Given the description of an element on the screen output the (x, y) to click on. 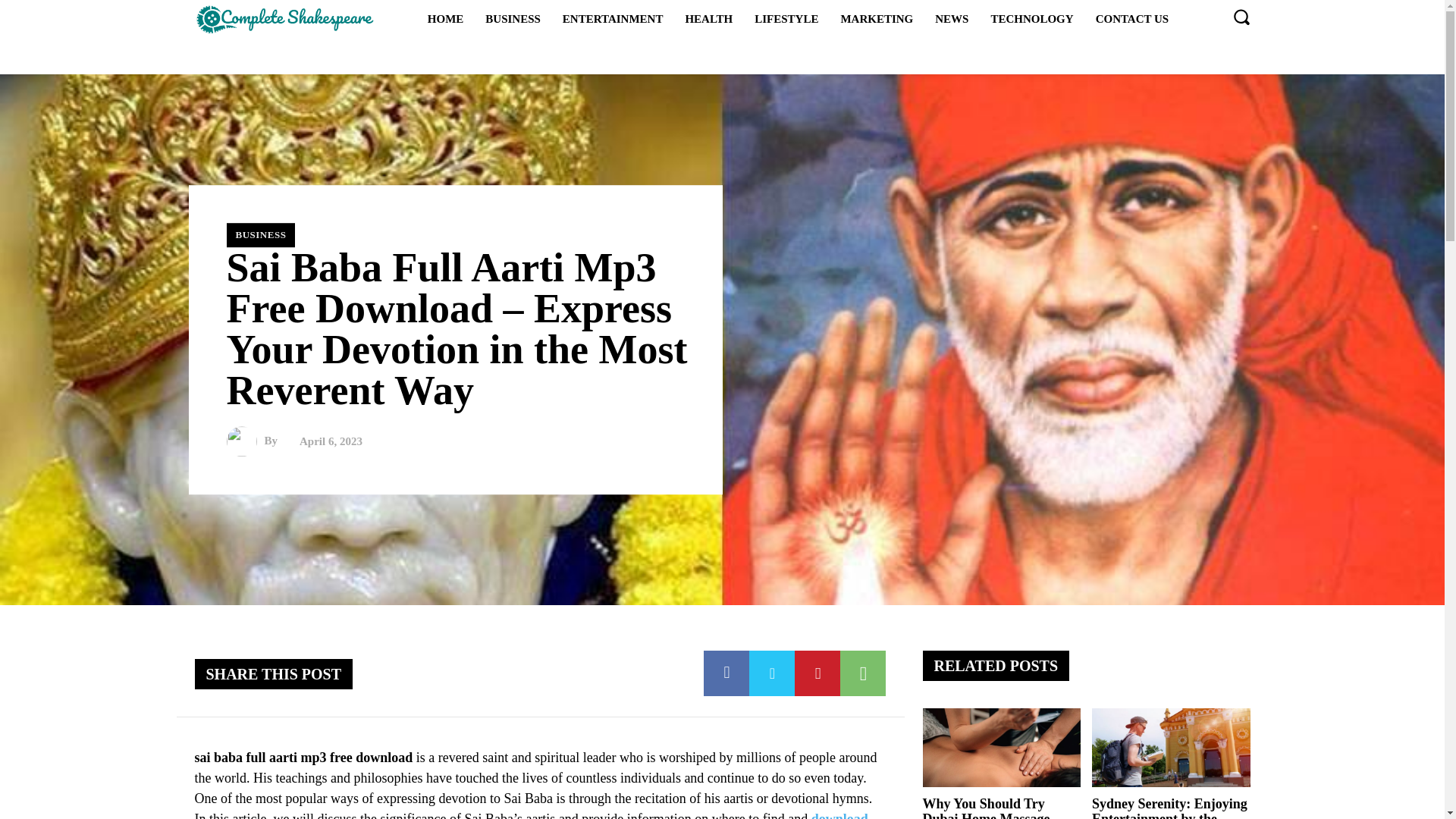
BUSINESS (260, 234)
Twitter (771, 673)
Sydney Serenity: Enjoying Entertainment by the Harbour (1169, 807)
ENTERTAINMENT (612, 18)
Sydney Serenity: Enjoying Entertainment by the Harbour (1171, 747)
TECHNOLOGY (1031, 18)
download (838, 815)
CONTACT US (1131, 18)
LIFESTYLE (786, 18)
Pinterest (817, 673)
Why You Should Try Dubai Home Massage Services (985, 807)
HEALTH (708, 18)
Why You Should Try Dubai Home Massage Services (1000, 747)
BUSINESS (513, 18)
NEWS (951, 18)
